Given the description of an element on the screen output the (x, y) to click on. 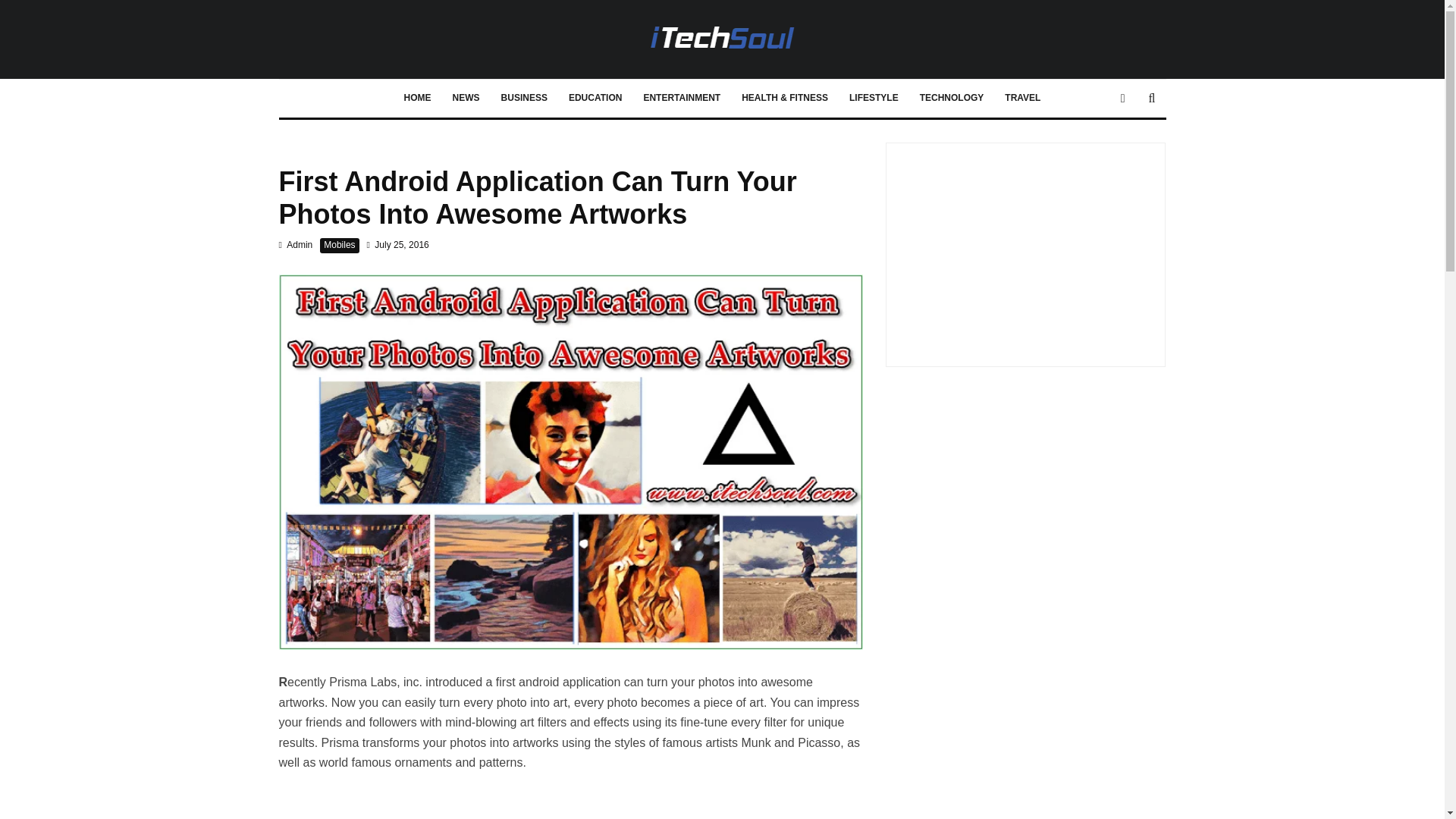
NEWS (466, 98)
EDUCATION (594, 98)
BUSINESS (523, 98)
Advertisement (1024, 248)
ENTERTAINMENT (680, 98)
HOME (417, 98)
